Given the description of an element on the screen output the (x, y) to click on. 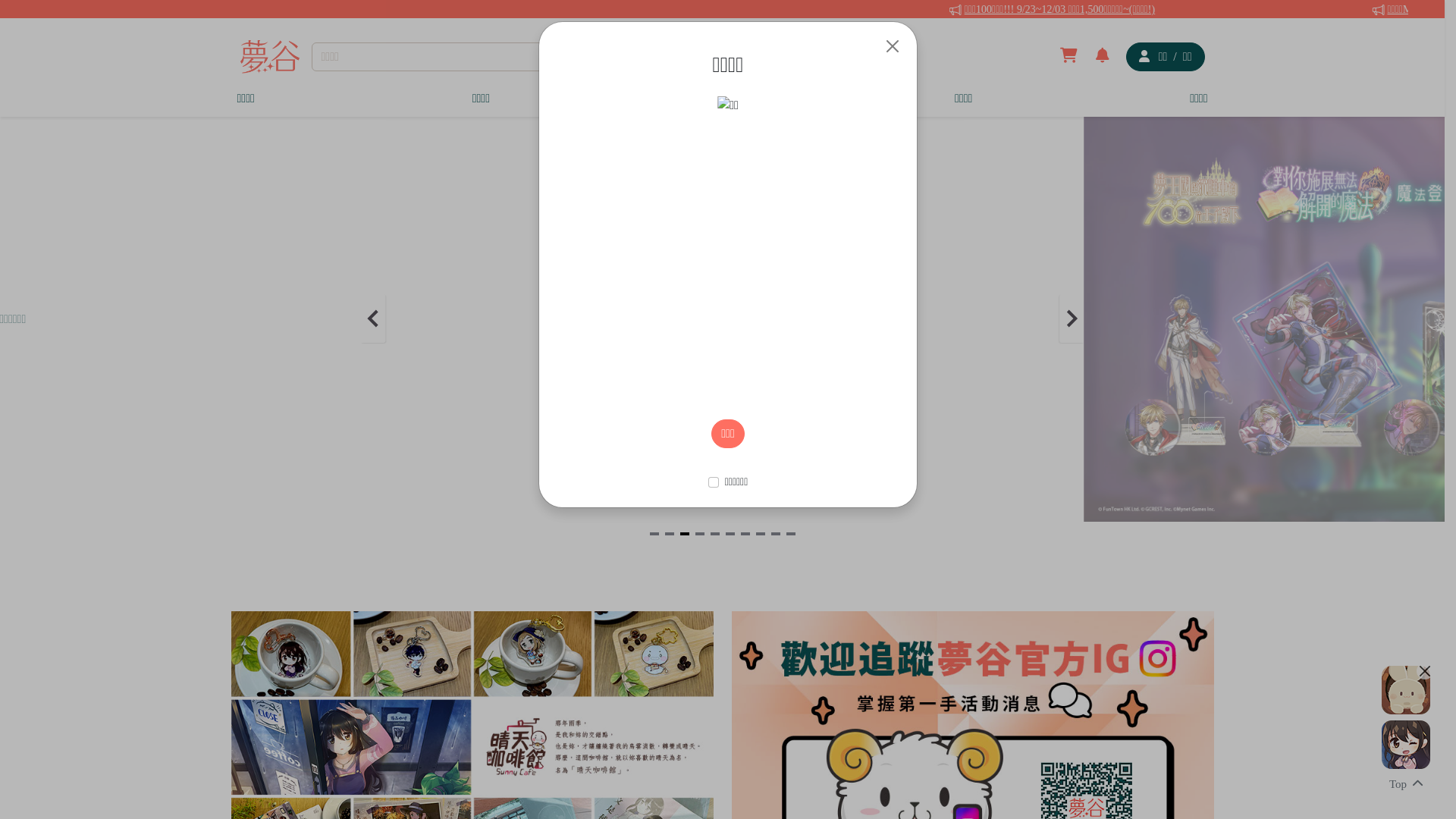
  Element type: text (1238, 9)
Top Element type: text (1405, 785)
